Given the description of an element on the screen output the (x, y) to click on. 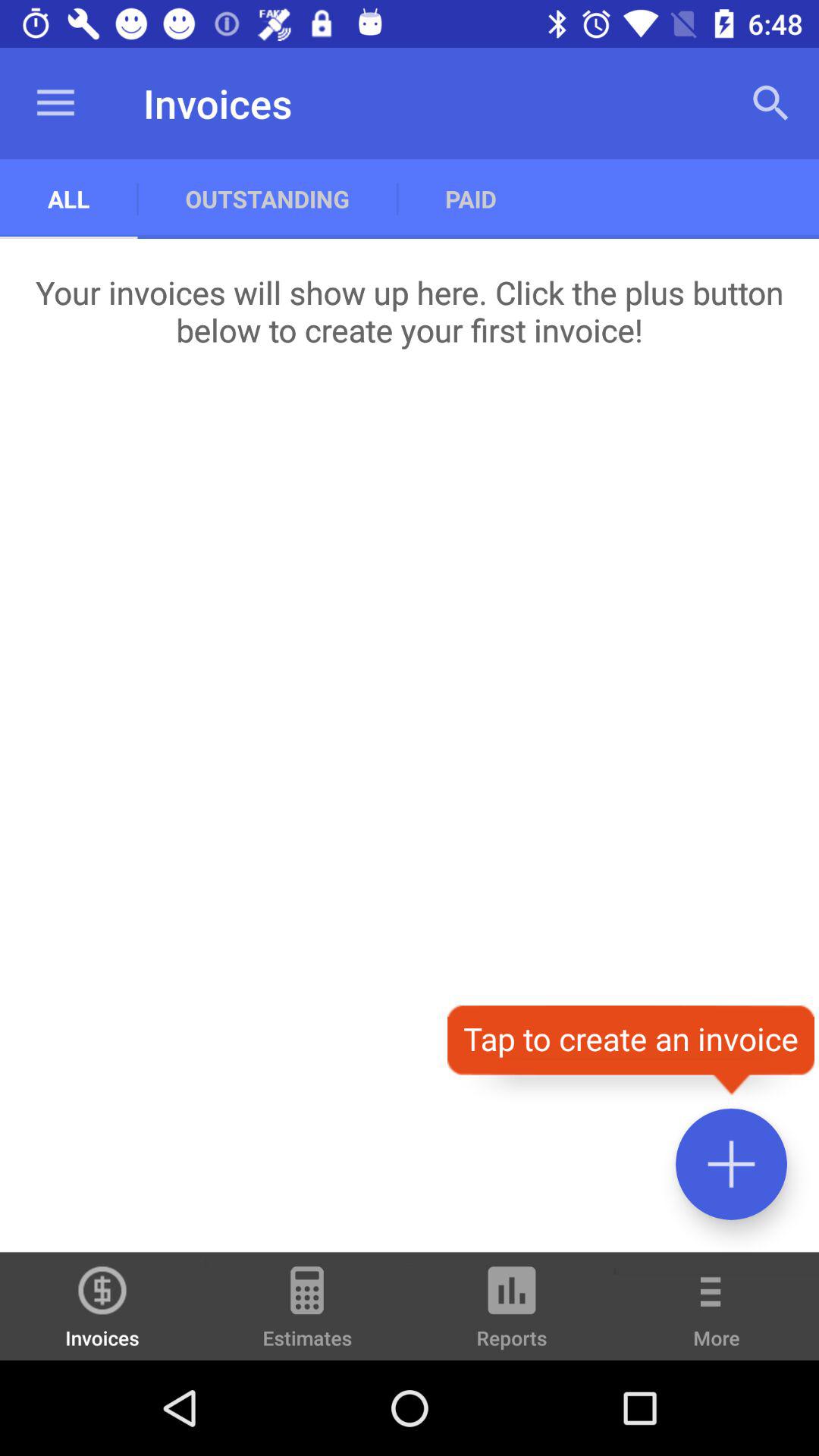
launch the item next to the outstanding app (68, 198)
